Given the description of an element on the screen output the (x, y) to click on. 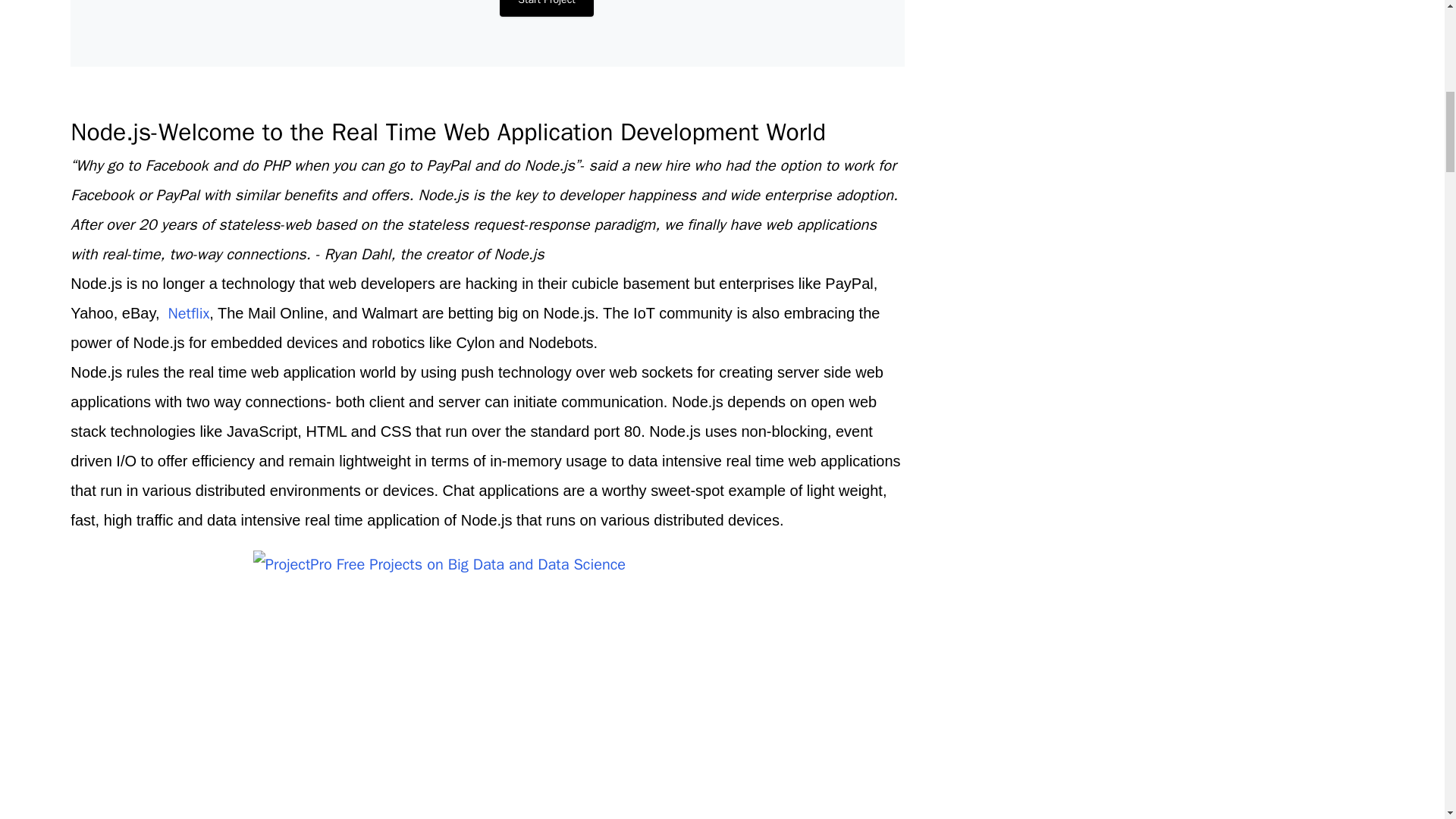
Start Project (545, 8)
5 Big Data Startup Success Stories (188, 312)
Netflix (188, 312)
ProjectPro Free Projects on Big Data and Data Science (487, 684)
